Given the description of an element on the screen output the (x, y) to click on. 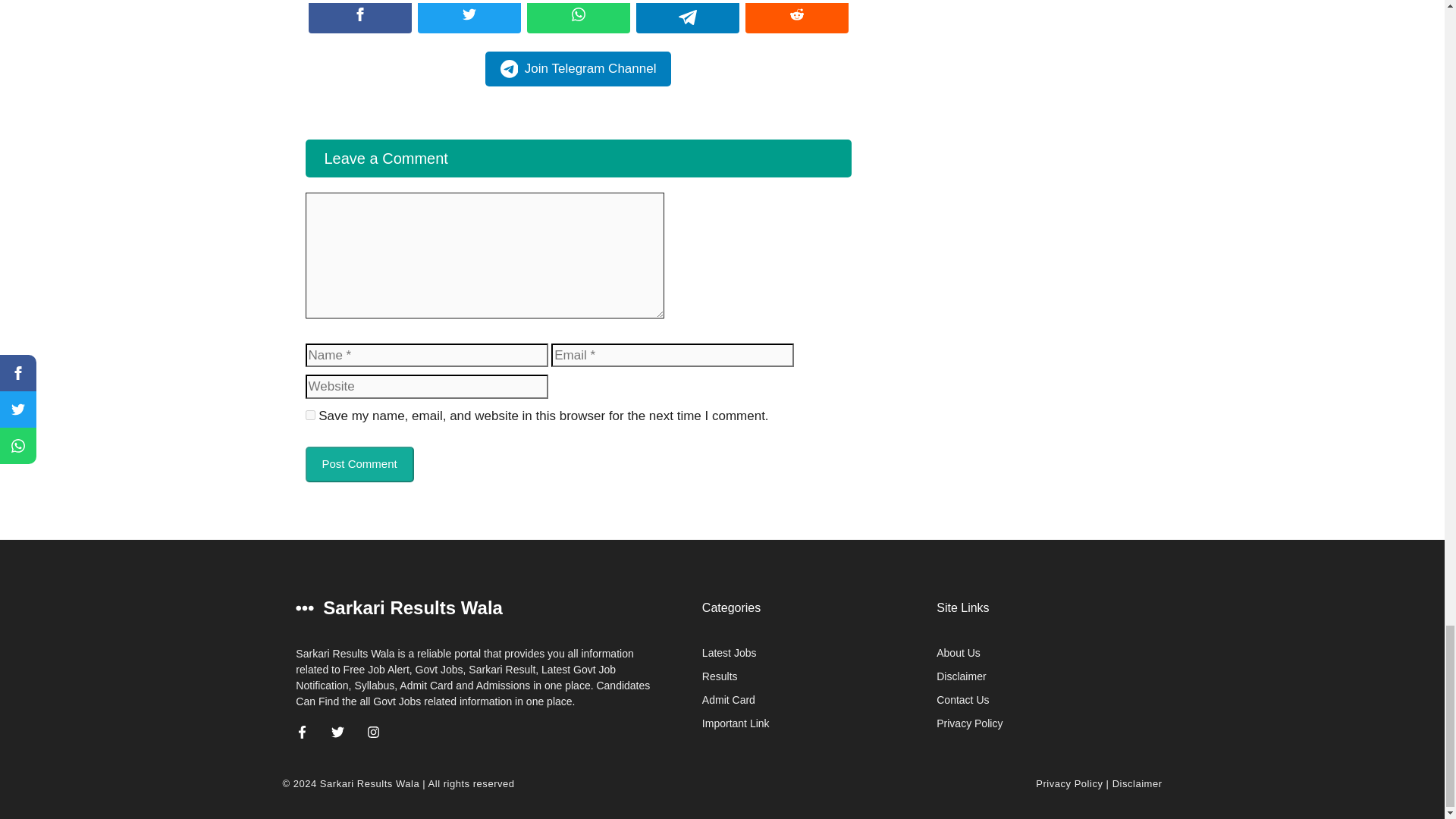
yes (309, 415)
Post Comment (358, 464)
